Given the description of an element on the screen output the (x, y) to click on. 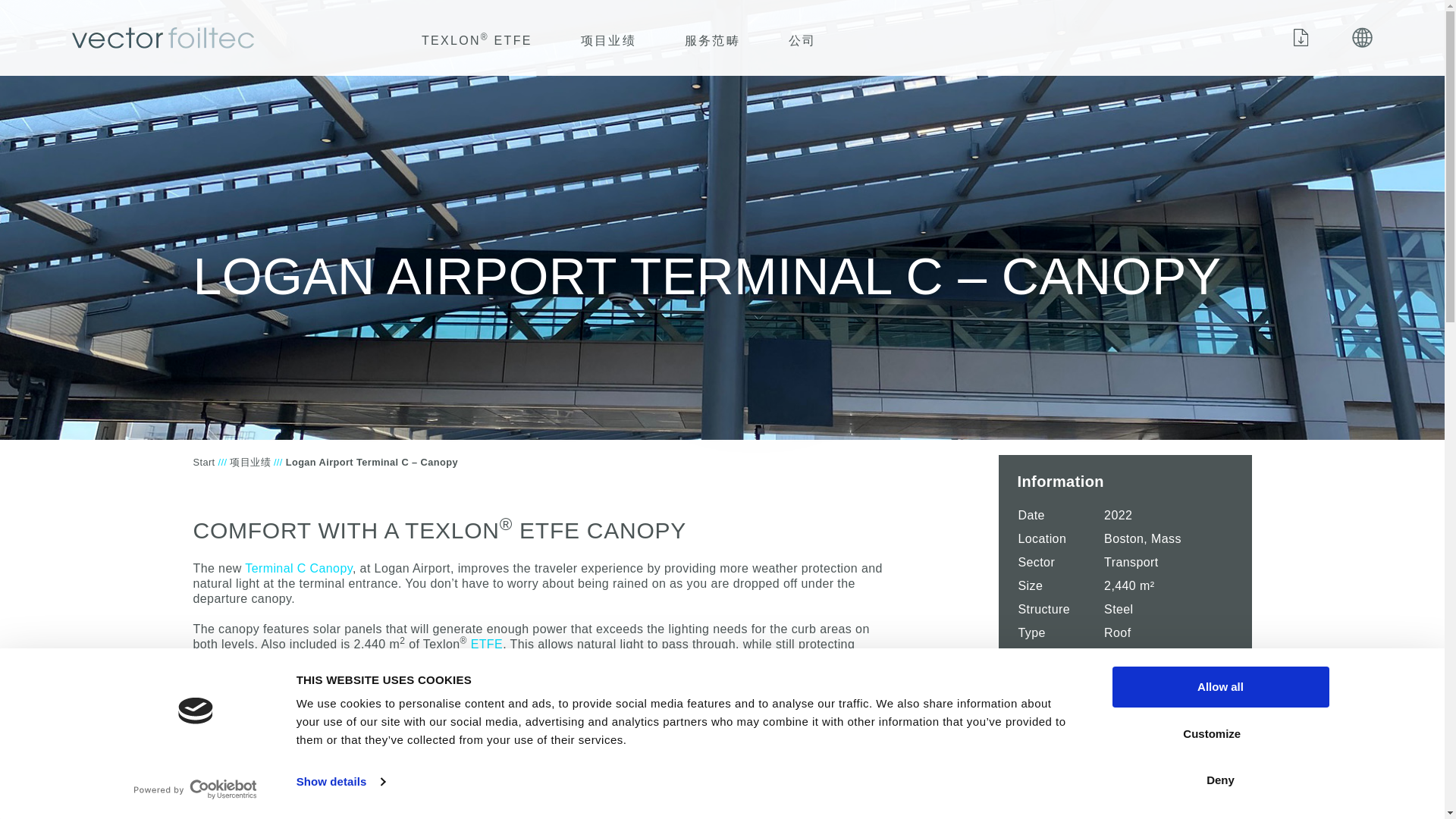
Show details (340, 781)
